Given the description of an element on the screen output the (x, y) to click on. 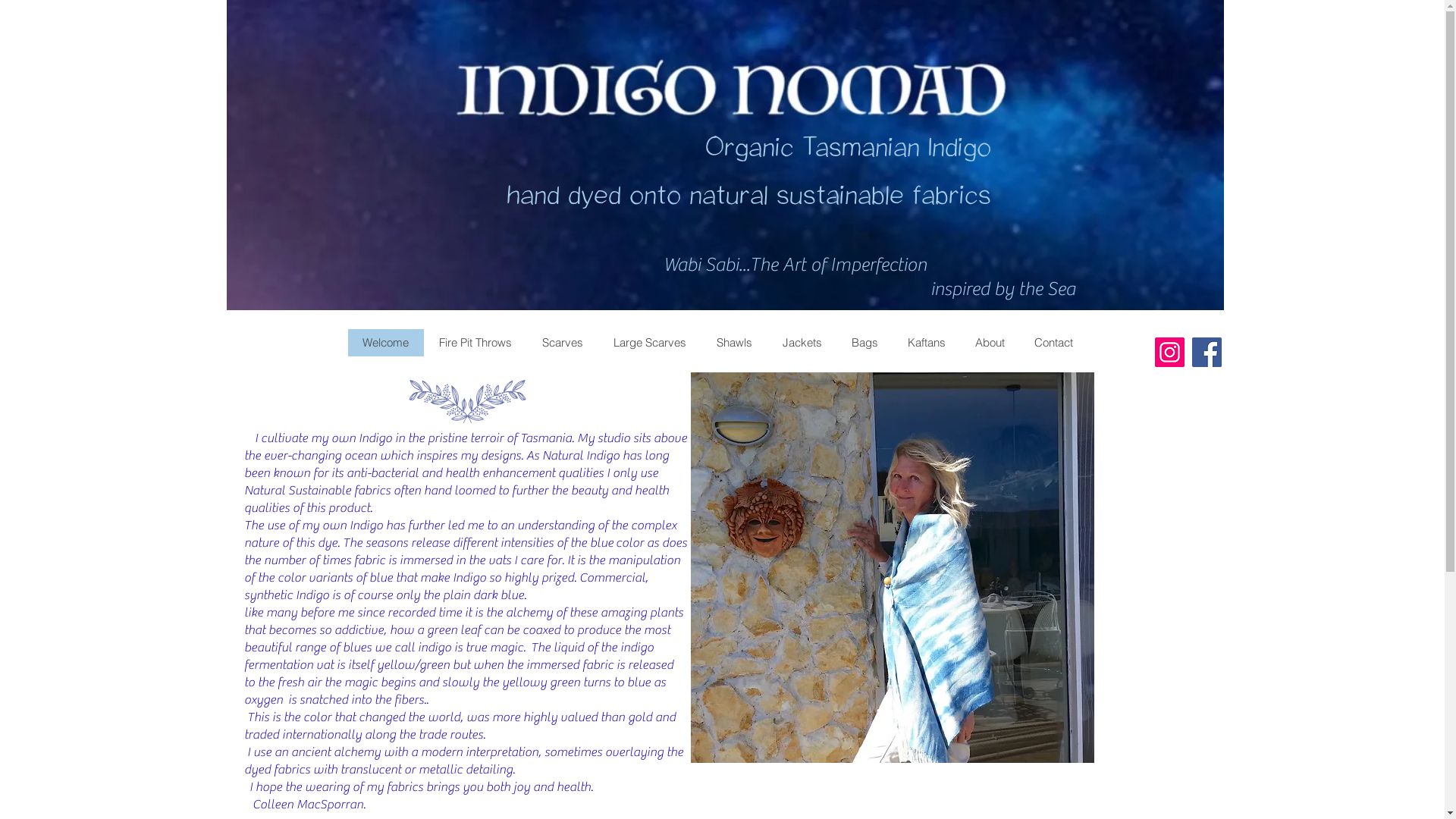
Kaftans Element type: text (925, 342)
0
Cart Element type: text (1047, 228)
Fire Pit Throws Element type: text (474, 342)
About Element type: text (989, 342)
Large Scarves Element type: text (648, 342)
Jackets Element type: text (801, 342)
Scarves Element type: text (561, 342)
Welcome Element type: text (385, 342)
Contact Element type: text (1053, 342)
Bags Element type: text (863, 342)
Shawls Element type: text (733, 342)
